Given the description of an element on the screen output the (x, y) to click on. 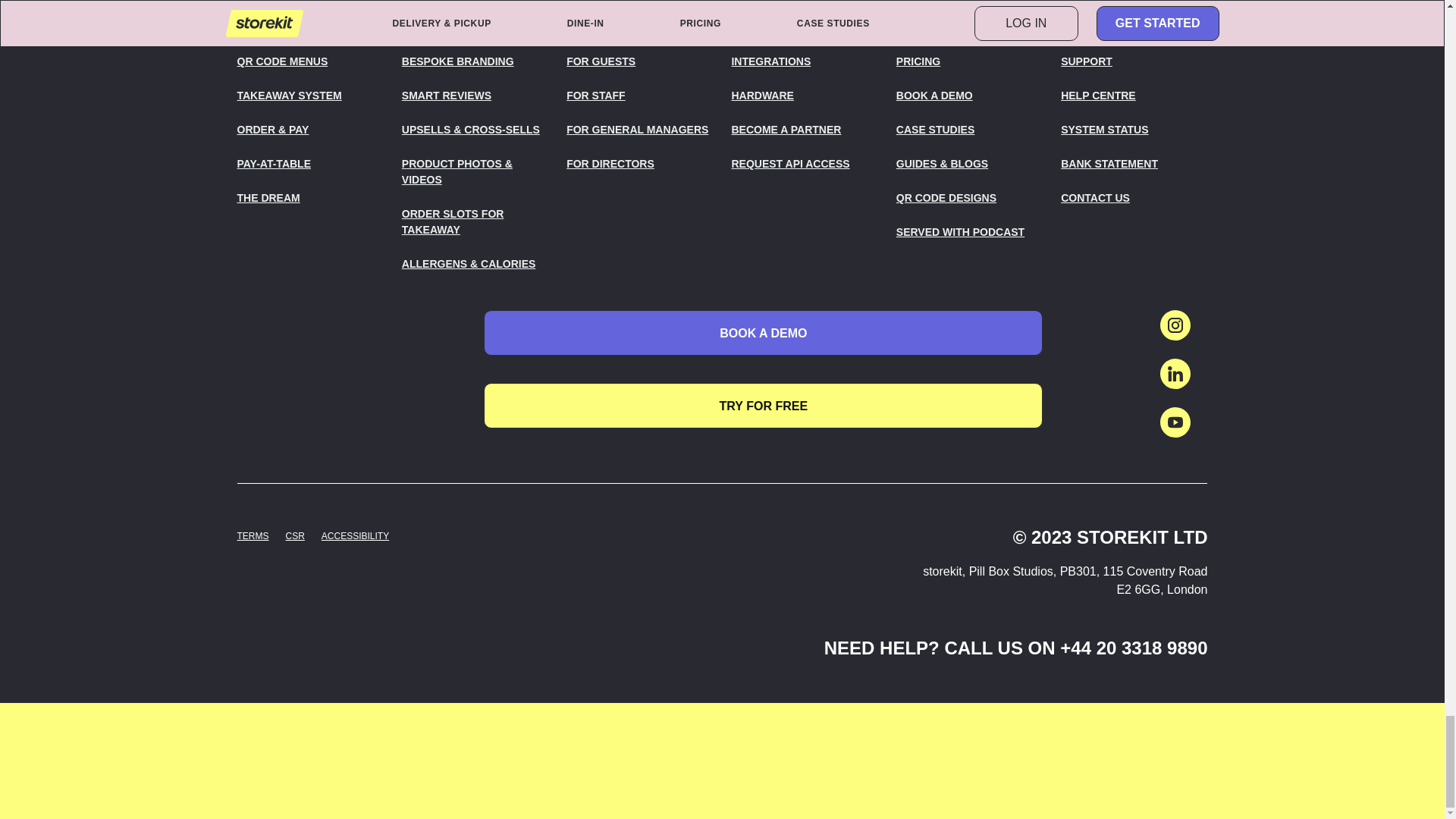
FOR GUESTS (639, 61)
ORDER SLOTS FOR TAKEAWAY (474, 222)
FOR GENERAL MANAGERS (639, 130)
PAY-AT-TABLE (308, 163)
FOR DIRECTORS (639, 163)
QR CODE MENUS (308, 61)
INTEGRATIONS (803, 61)
SMART REVIEWS (474, 95)
HARDWARE (803, 95)
THE DREAM (308, 198)
FOR STAFF (639, 95)
BESPOKE BRANDING (474, 61)
TAKEAWAY SYSTEM (308, 95)
